Given the description of an element on the screen output the (x, y) to click on. 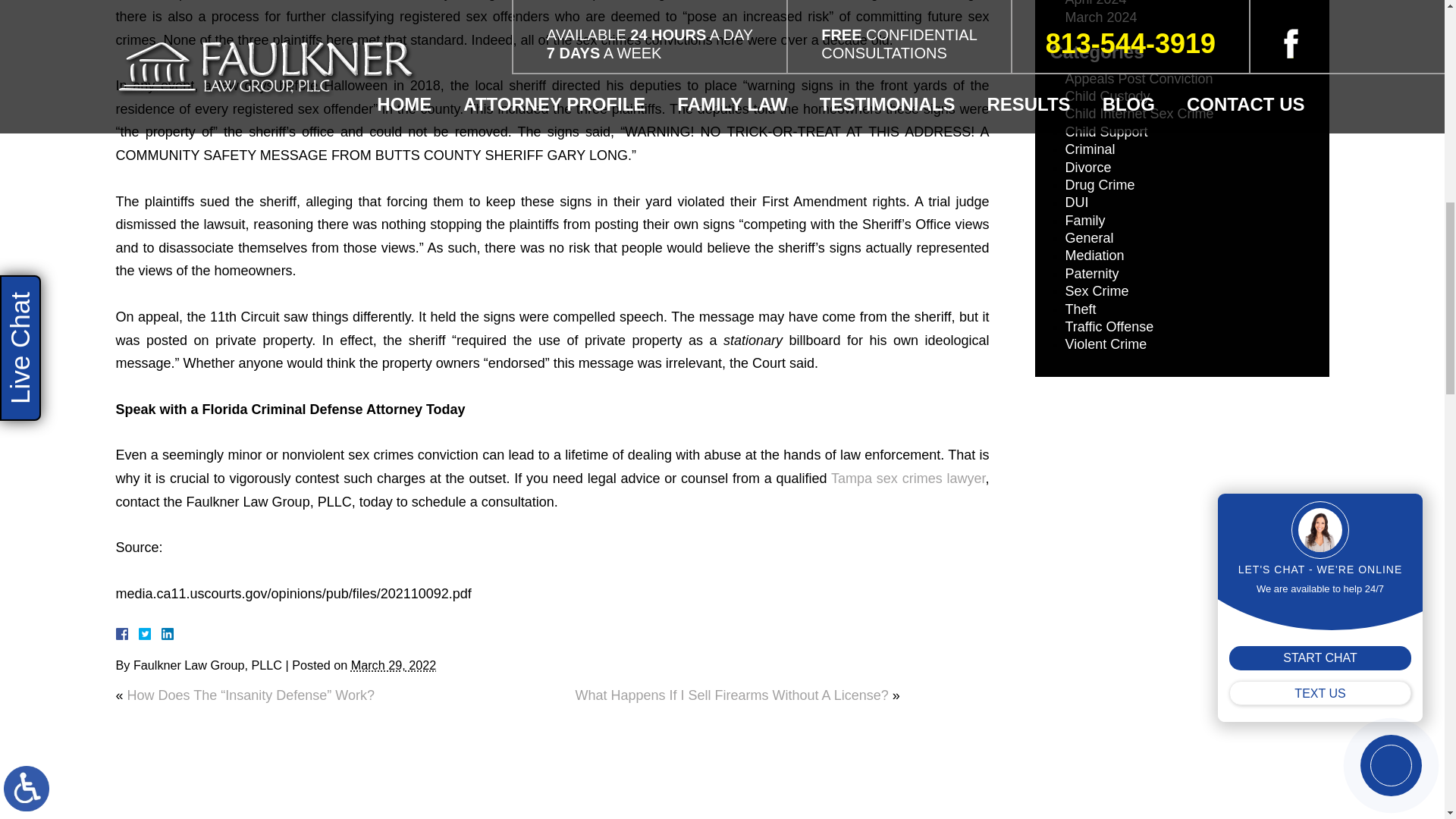
Facebook (139, 633)
Twitter (149, 633)
LinkedIn (160, 633)
2022-03-29T07:48:50-0700 (392, 664)
